Given the description of an element on the screen output the (x, y) to click on. 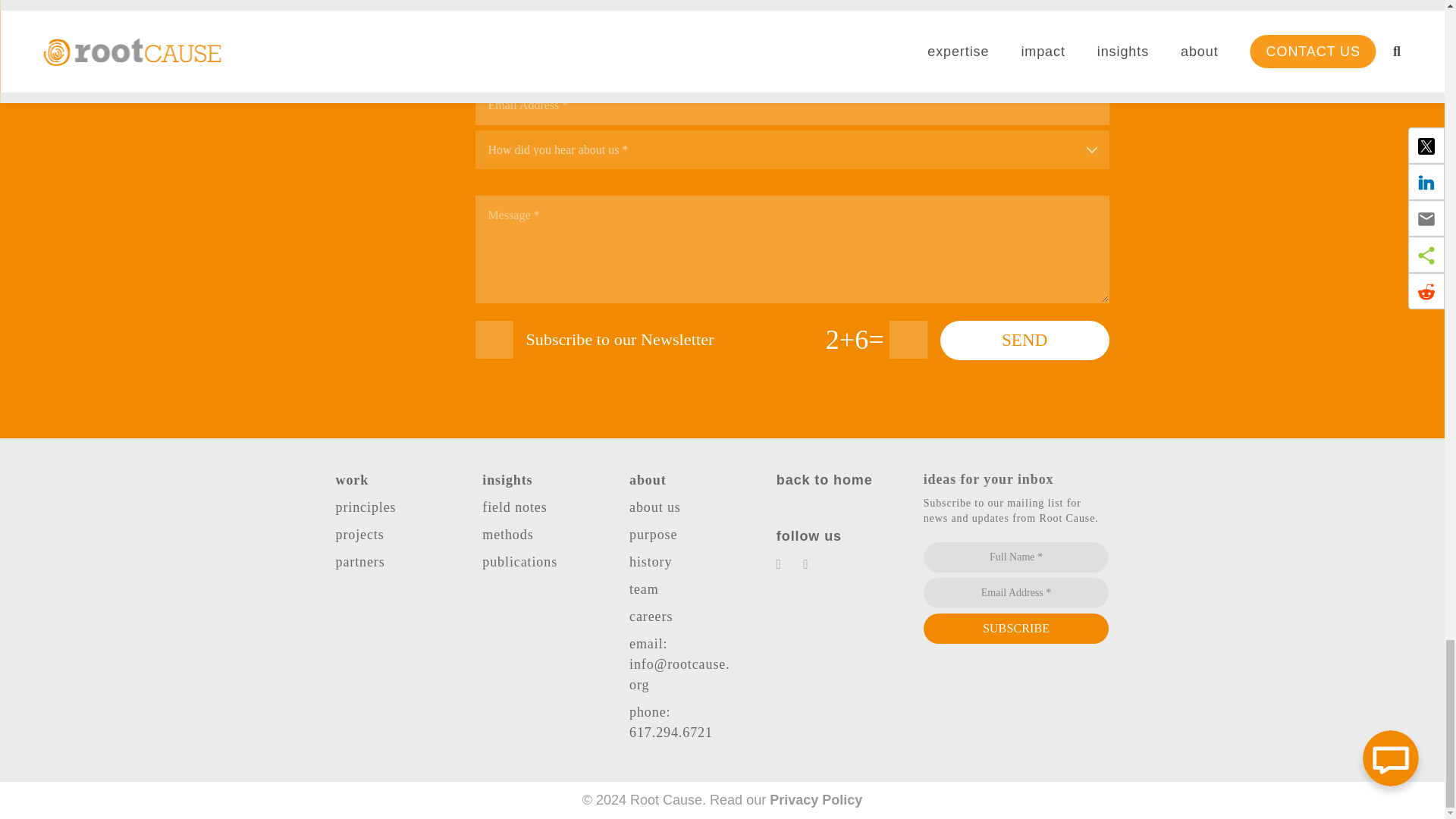
Subscribe (1016, 628)
Send (1024, 340)
